Given the description of an element on the screen output the (x, y) to click on. 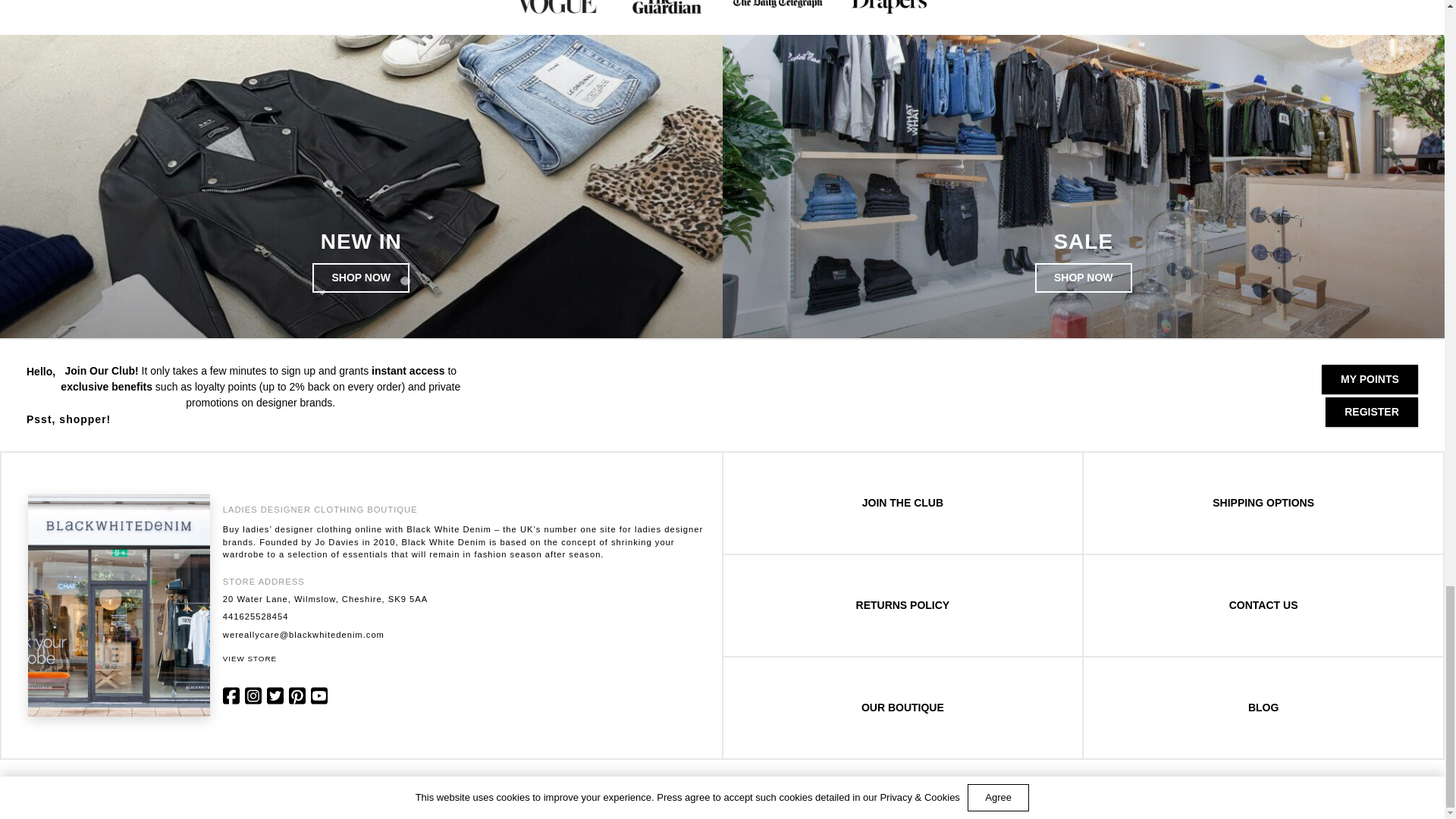
New In (361, 277)
Sale (1083, 277)
